Given the description of an element on the screen output the (x, y) to click on. 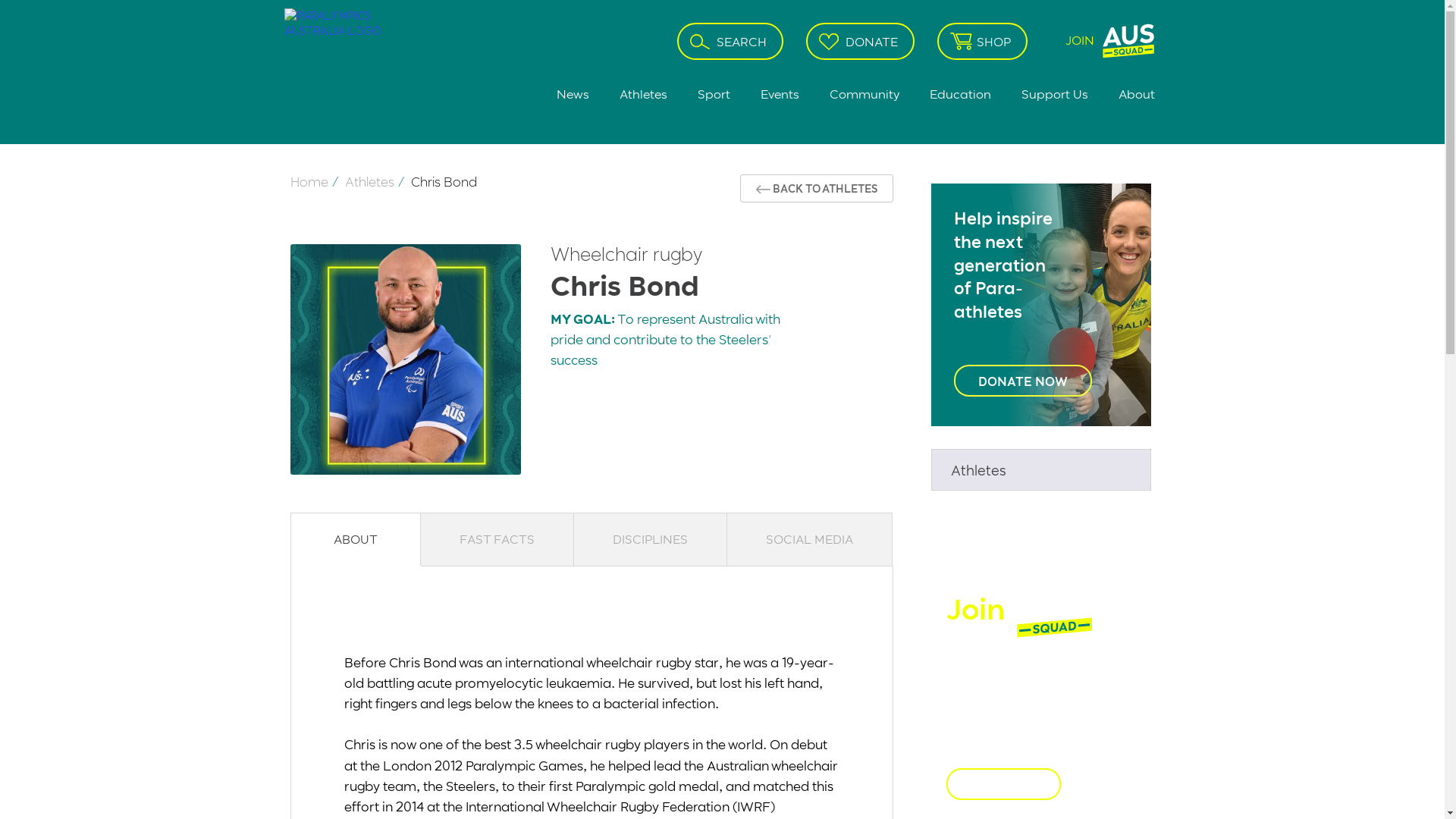
Support Us Element type: text (1053, 93)
Athletes Element type: text (642, 93)
Events Element type: text (778, 93)
SOCIAL MEDIA Element type: text (808, 538)
DONATE Element type: text (860, 40)
JOIN NOW Element type: text (1003, 783)
BACK TO ATHLETES Element type: text (816, 188)
Community Element type: text (864, 93)
DONATE NOW Element type: text (1022, 380)
SEARCH Element type: text (730, 40)
Athletes Element type: text (368, 180)
ABOUT Element type: text (355, 538)
DISCIPLINES Element type: text (649, 538)
Go back to Home Page Element type: hover (342, 69)
Home Element type: text (308, 180)
Sport Element type: text (713, 93)
SHOP Element type: text (982, 40)
Education Element type: text (960, 93)
About Element type: text (1128, 93)
News Element type: text (572, 93)
FAST FACTS Element type: text (496, 538)
JOIN Element type: text (1102, 40)
